Given the description of an element on the screen output the (x, y) to click on. 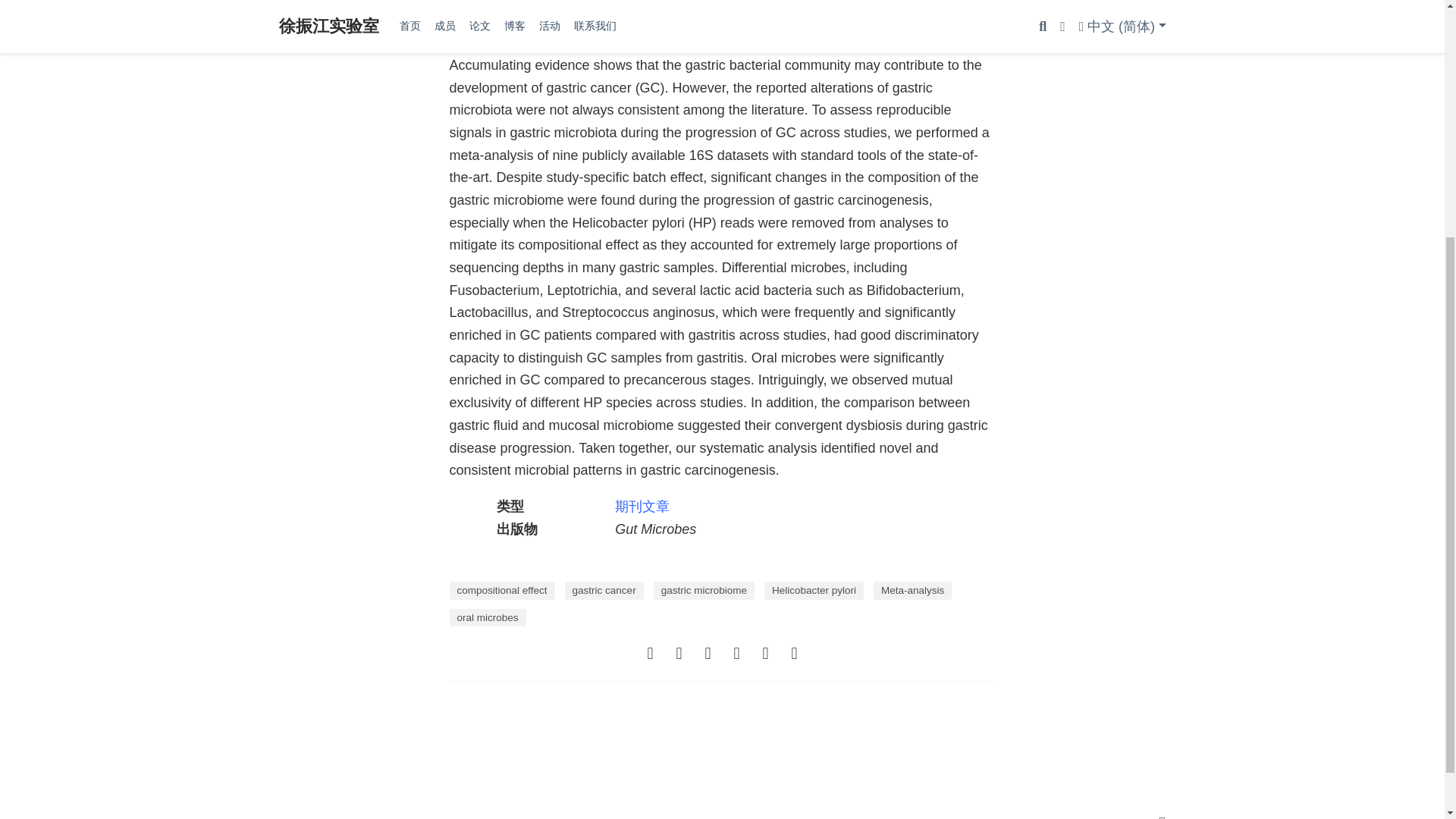
gastric cancer (603, 590)
Helicobacter pylori (813, 590)
DOI (510, 1)
oral microbes (486, 618)
compositional effect (501, 590)
gastric microbiome (703, 590)
Meta-analysis (912, 590)
